Given the description of an element on the screen output the (x, y) to click on. 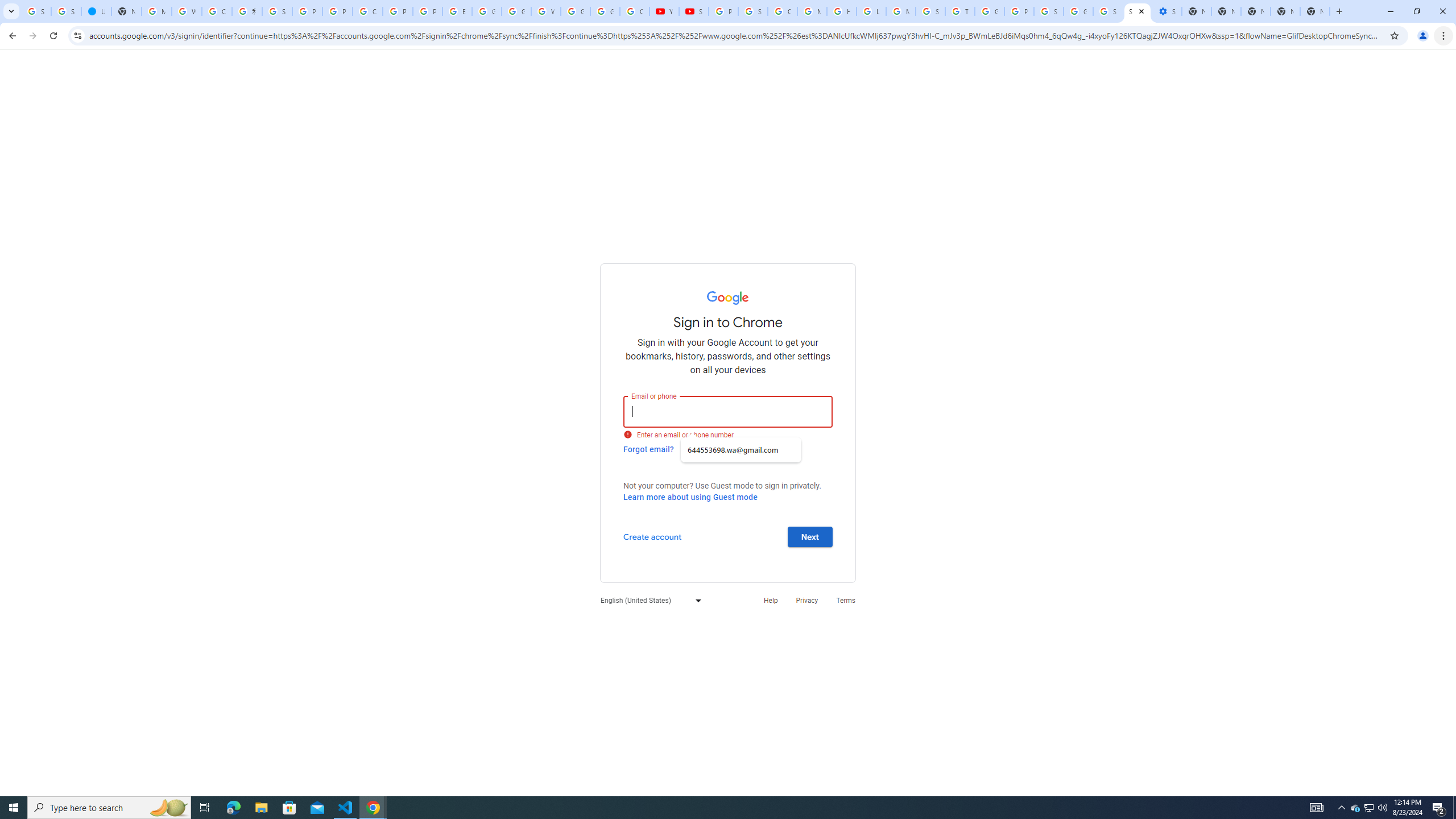
English (United States) (647, 600)
Who is my administrator? - Google Account Help (185, 11)
Create account (651, 536)
Subscriptions - YouTube (693, 11)
Sign in - Google Accounts (277, 11)
New Tab (1314, 11)
Sign in - Google Accounts (65, 11)
YouTube (664, 11)
USA TODAY (95, 11)
